Given the description of an element on the screen output the (x, y) to click on. 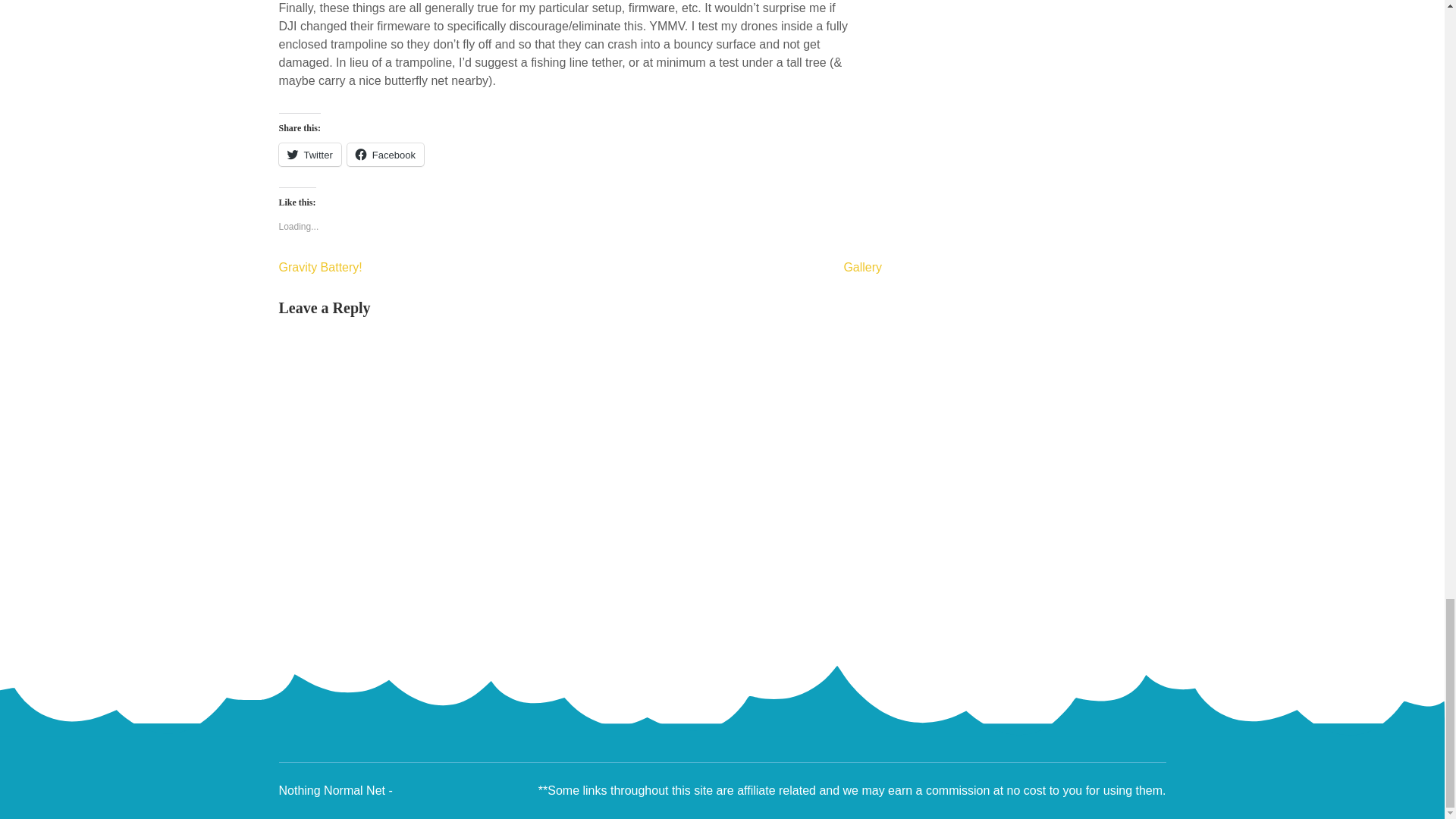
Gravity Battery! (320, 267)
Click to share on Twitter (309, 154)
Gallery (862, 267)
Click to share on Facebook (385, 154)
Twitter (309, 154)
Facebook (385, 154)
